Given the description of an element on the screen output the (x, y) to click on. 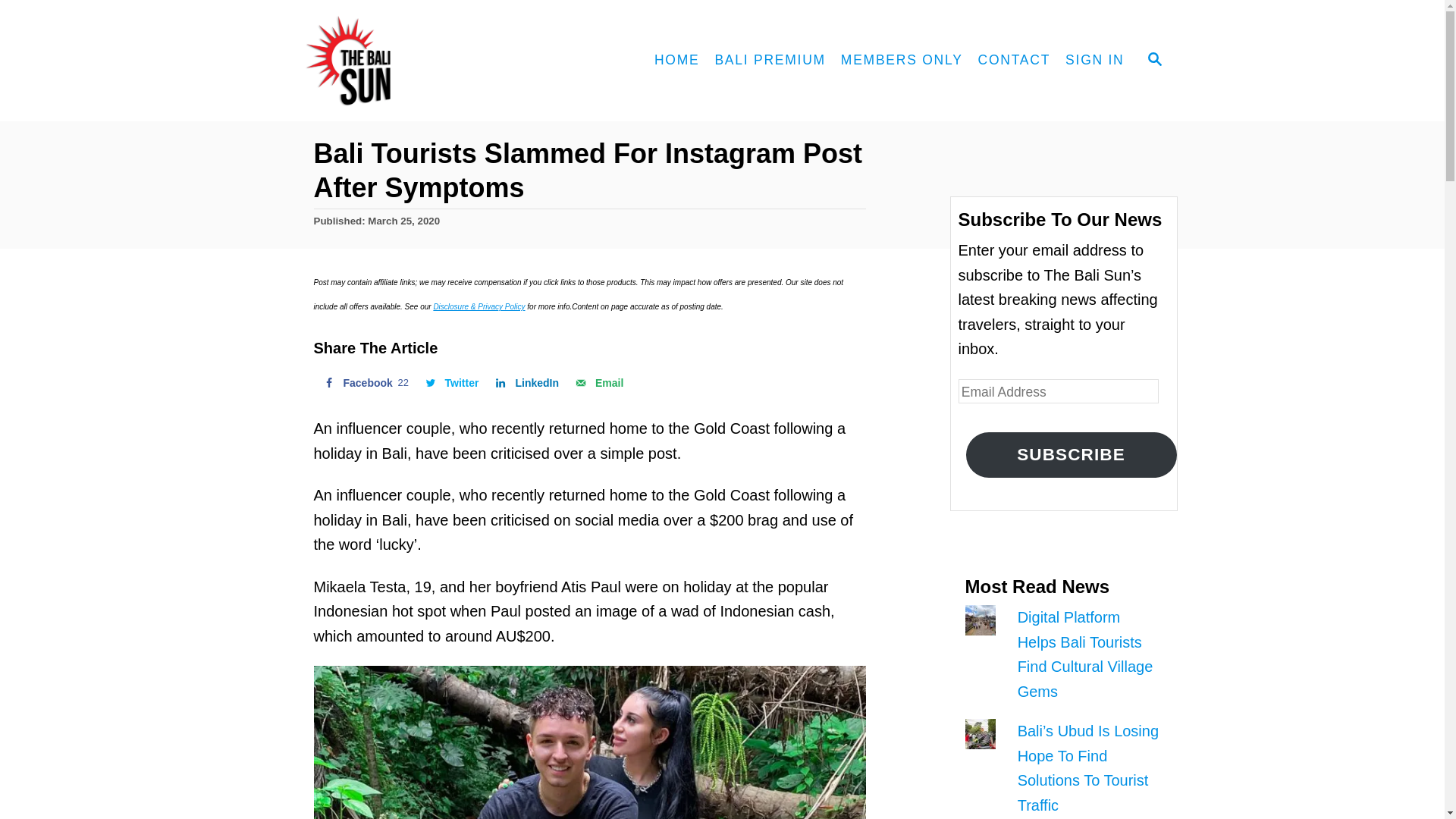
Email (598, 382)
SUBSCRIBE (364, 382)
MEMBERS ONLY (1071, 454)
Share on LinkedIn (901, 60)
Twitter (525, 382)
The Bali Sun (450, 382)
Send over email (403, 60)
Share on Facebook (598, 382)
